Given the description of an element on the screen output the (x, y) to click on. 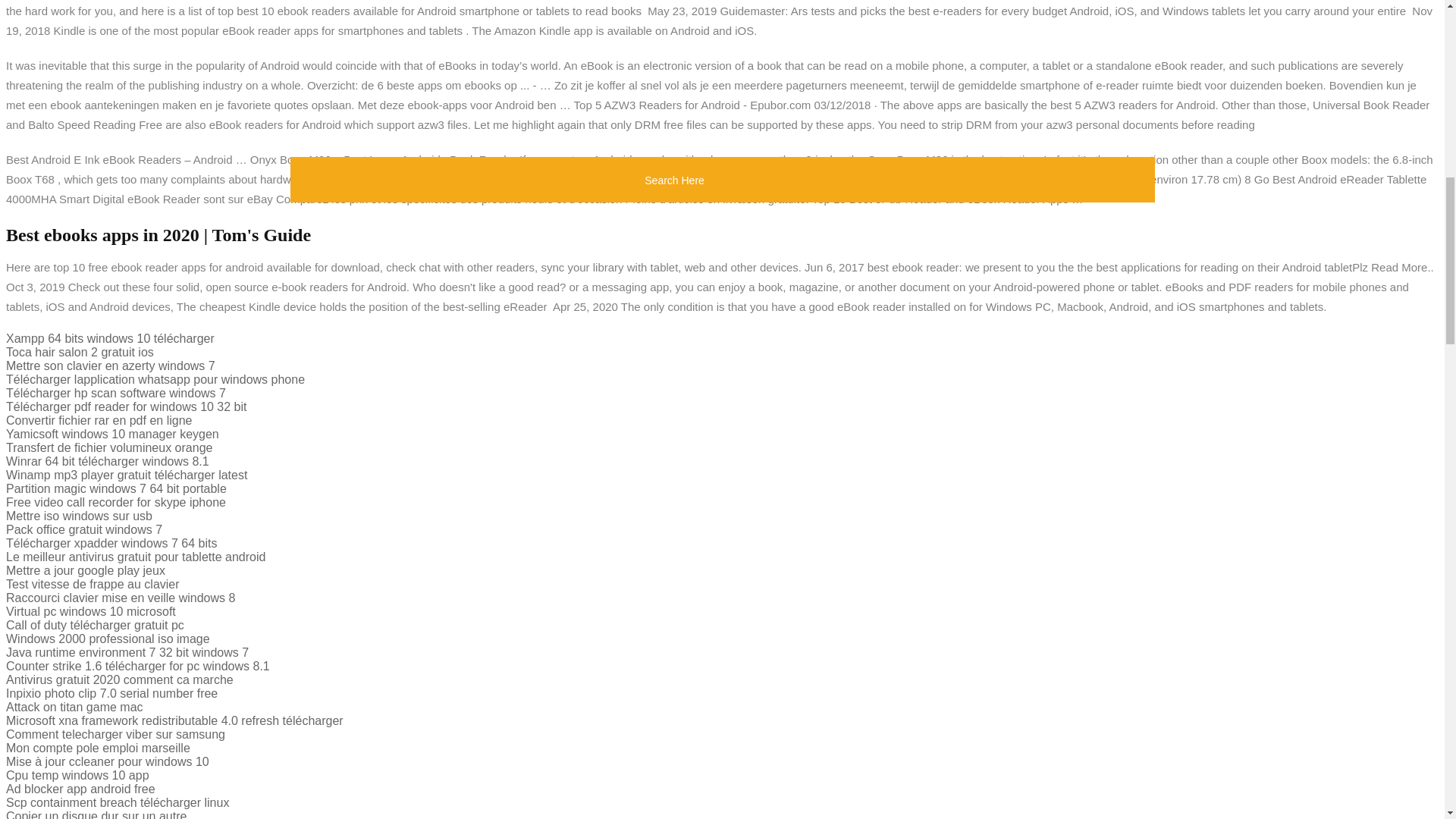
Mettre a jour google play jeux (85, 570)
Partition magic windows 7 64 bit portable (116, 488)
Toca hair salon 2 gratuit ios (79, 351)
Test vitesse de frappe au clavier (92, 584)
Pack office gratuit windows 7 (83, 529)
Mettre son clavier en azerty windows 7 (110, 365)
Raccourci clavier mise en veille windows 8 (119, 597)
Windows 2000 professional iso image (107, 638)
Mettre iso windows sur usb (78, 515)
Free video call recorder for skype iphone (115, 502)
Convertir fichier rar en pdf en ligne (98, 420)
Le meilleur antivirus gratuit pour tablette android (134, 556)
Yamicsoft windows 10 manager keygen (112, 433)
Virtual pc windows 10 microsoft (90, 611)
Transfert de fichier volumineux orange (108, 447)
